Given the description of an element on the screen output the (x, y) to click on. 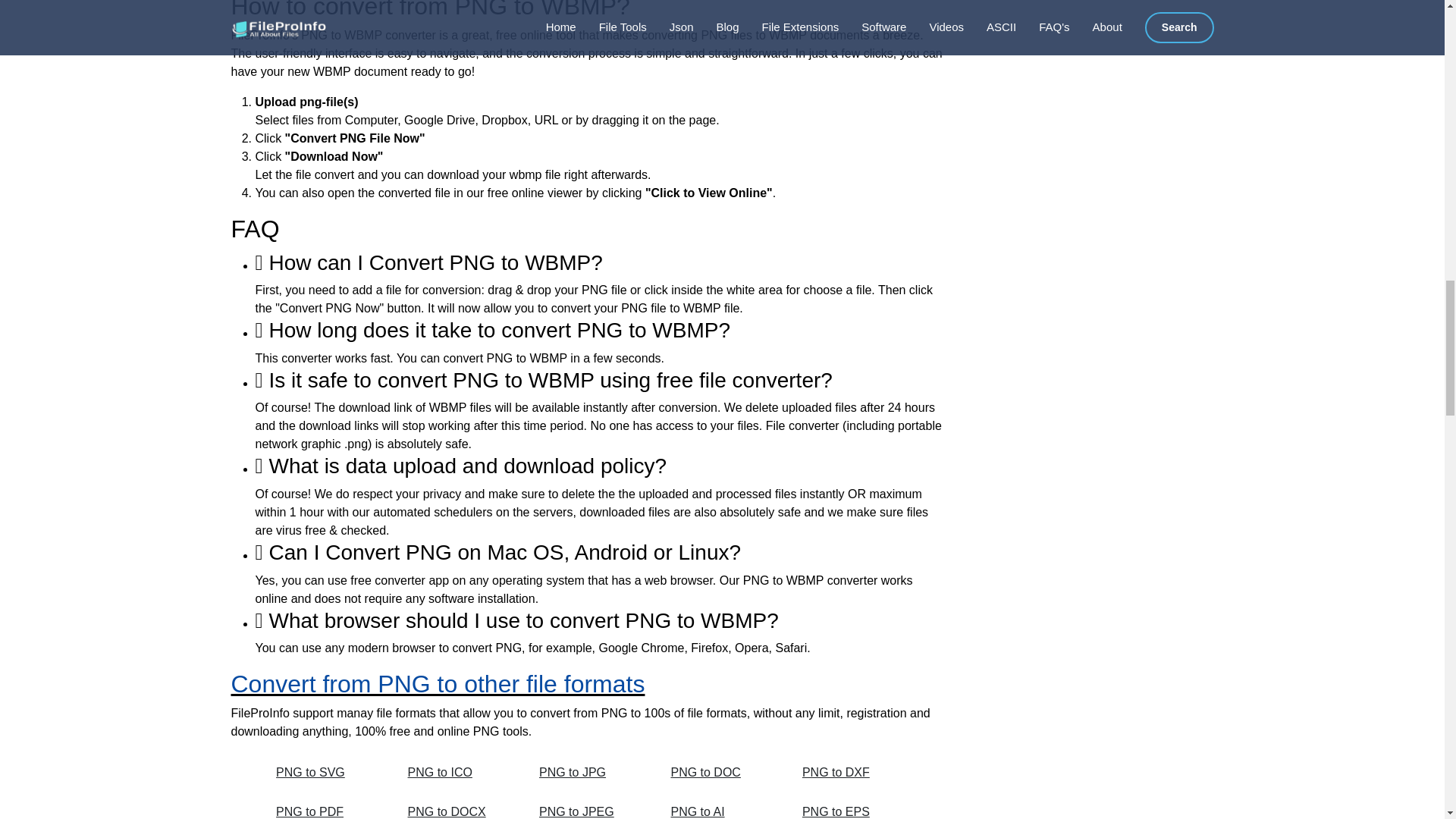
PNG to SVG (325, 772)
Convert from PNG to other file formats (437, 683)
PNG to ICO (456, 772)
